Given the description of an element on the screen output the (x, y) to click on. 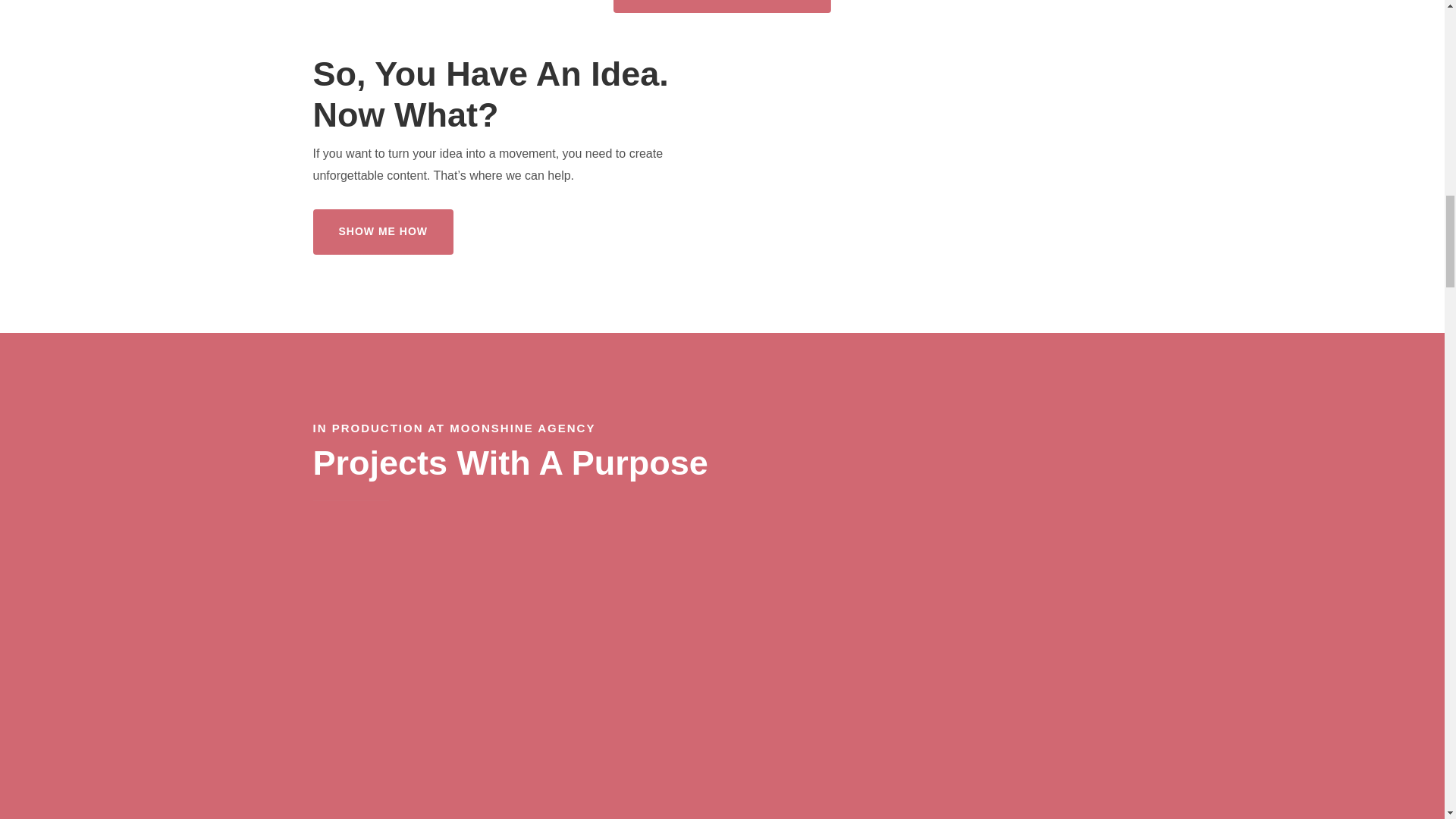
SEE THE FILM (721, 6)
SHOW ME HOW (382, 231)
